Given the description of an element on the screen output the (x, y) to click on. 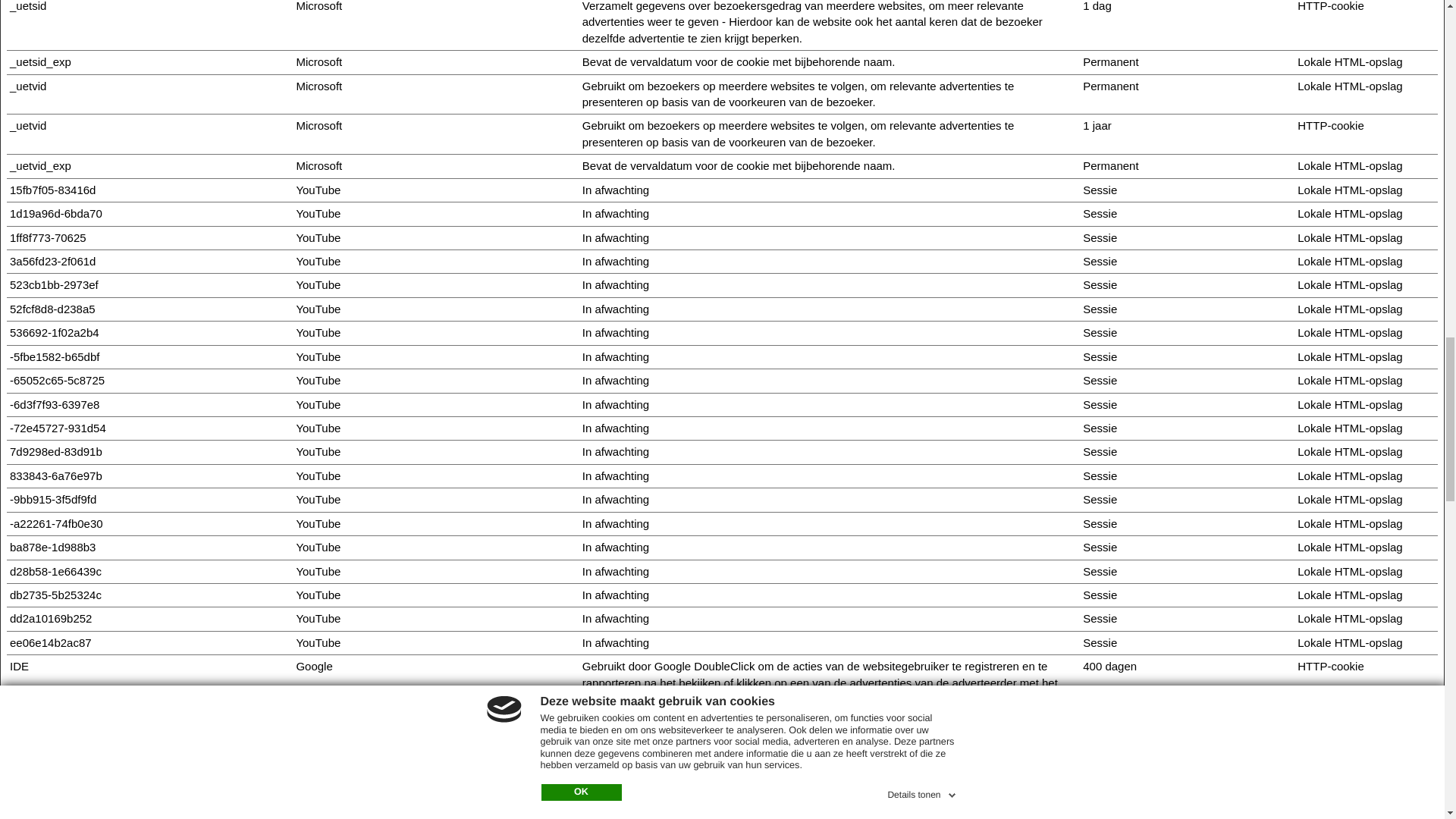
YouTube (317, 189)
YouTube (317, 617)
Privacybeleid van Microsoft (318, 124)
Privacybeleid van YouTube (317, 189)
YouTube (317, 356)
Privacybeleid van Microsoft (318, 164)
YouTube (317, 451)
YouTube (317, 260)
YouTube (317, 427)
YouTube (317, 475)
